Given the description of an element on the screen output the (x, y) to click on. 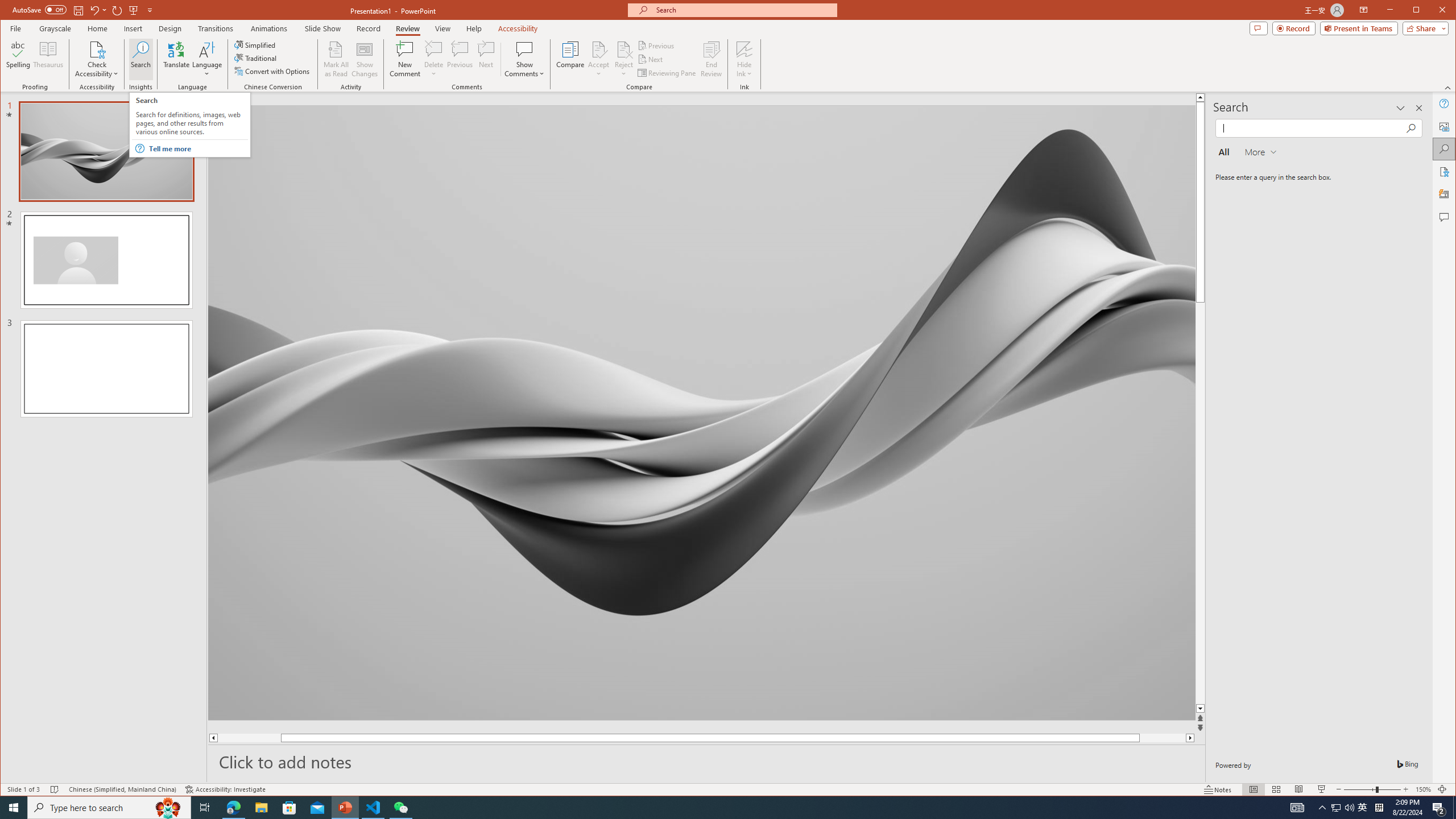
Accept (598, 59)
Next (651, 59)
Compare (569, 59)
WeChat - 1 running window (400, 807)
Maximize (1432, 11)
Check Accessibility (96, 59)
